Given the description of an element on the screen output the (x, y) to click on. 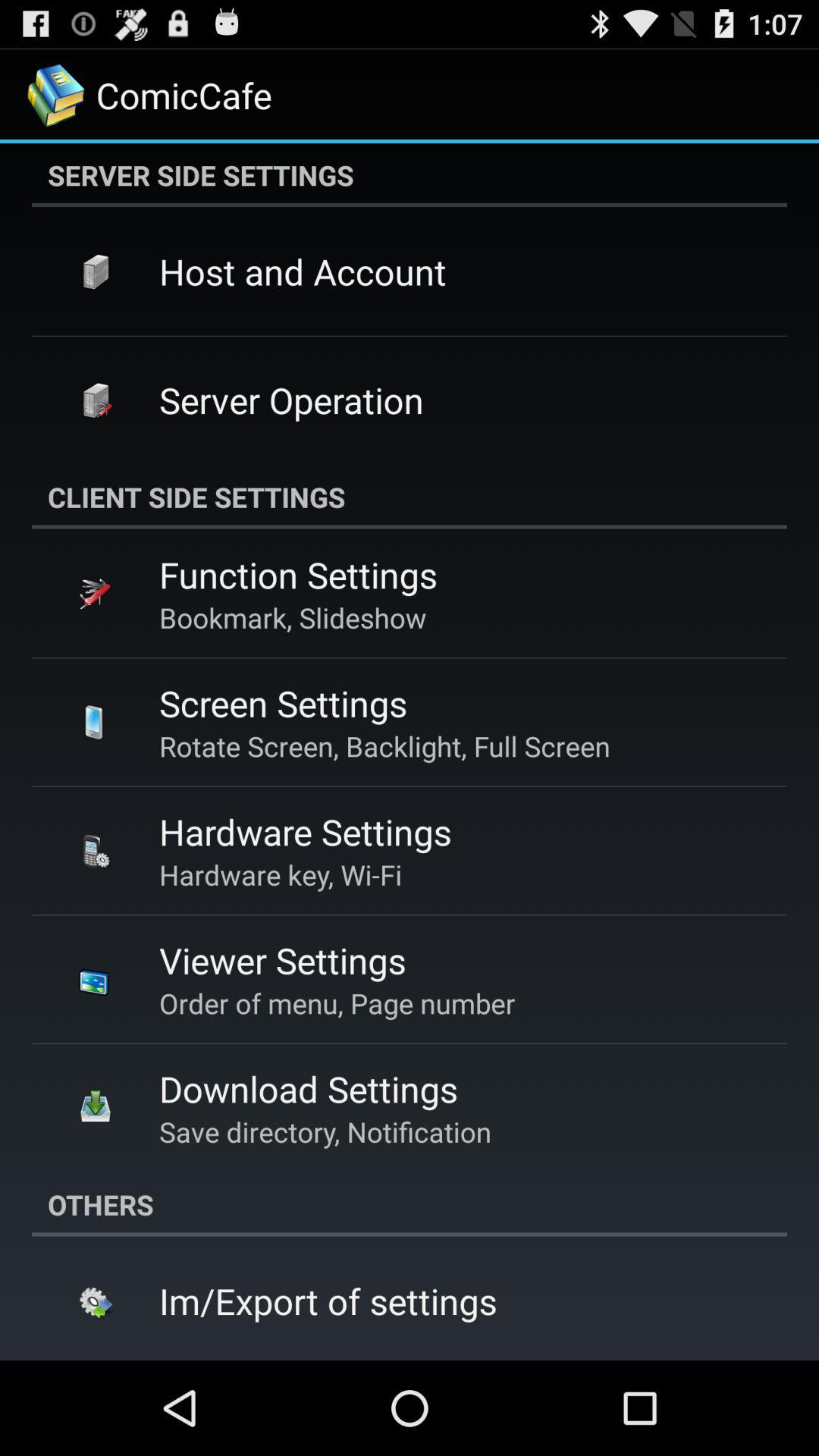
turn on save directory, notification app (325, 1131)
